Given the description of an element on the screen output the (x, y) to click on. 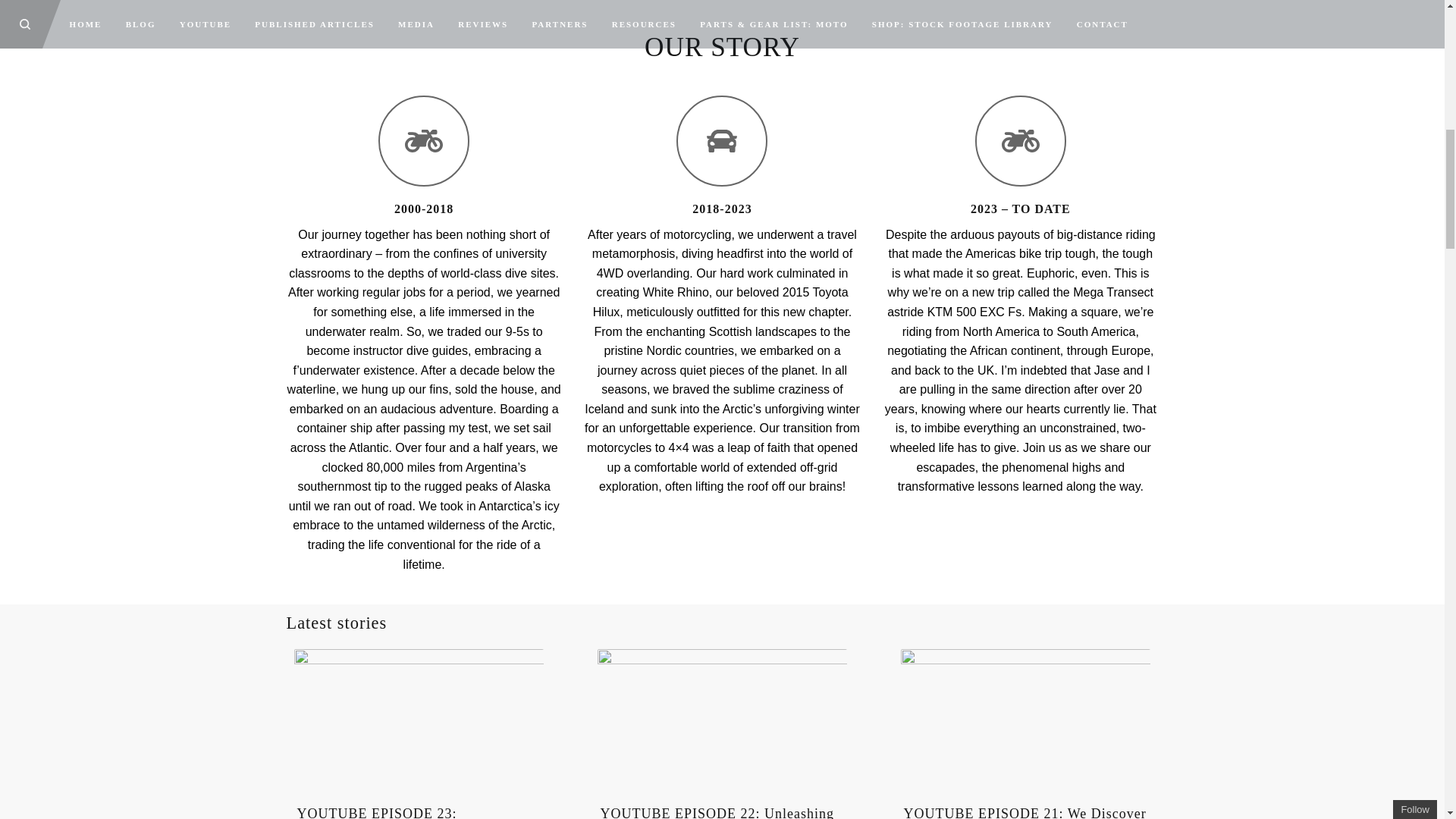
Sign up! (1361, 109)
